Given the description of an element on the screen output the (x, y) to click on. 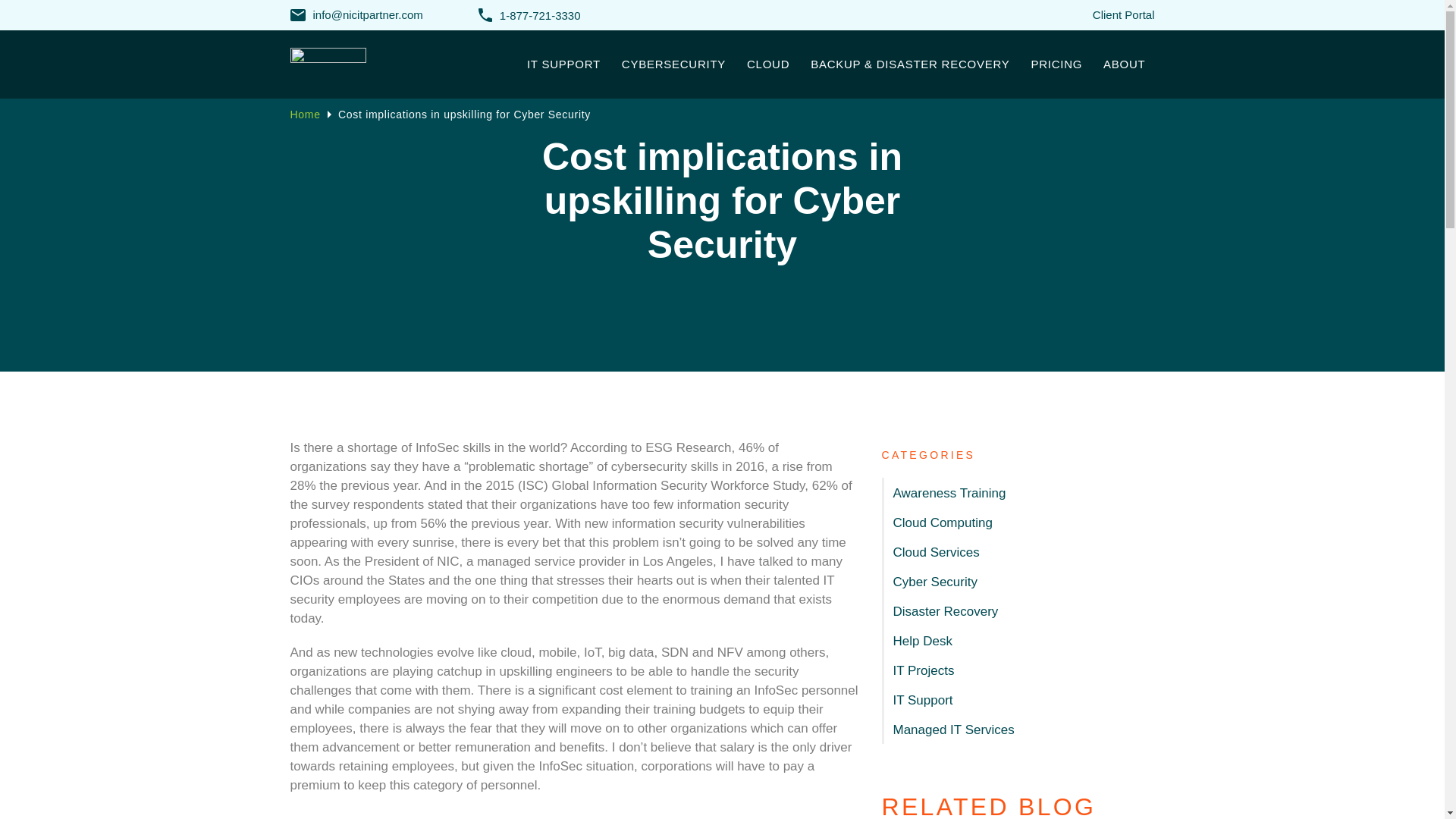
1-877-721-3330 (529, 15)
Home (304, 114)
PRICING (1056, 64)
CYBERSECURITY (673, 64)
NIC Inc. (351, 63)
CLOUD (767, 64)
IT SUPPORT (564, 64)
Client Portal (1123, 14)
